Given the description of an element on the screen output the (x, y) to click on. 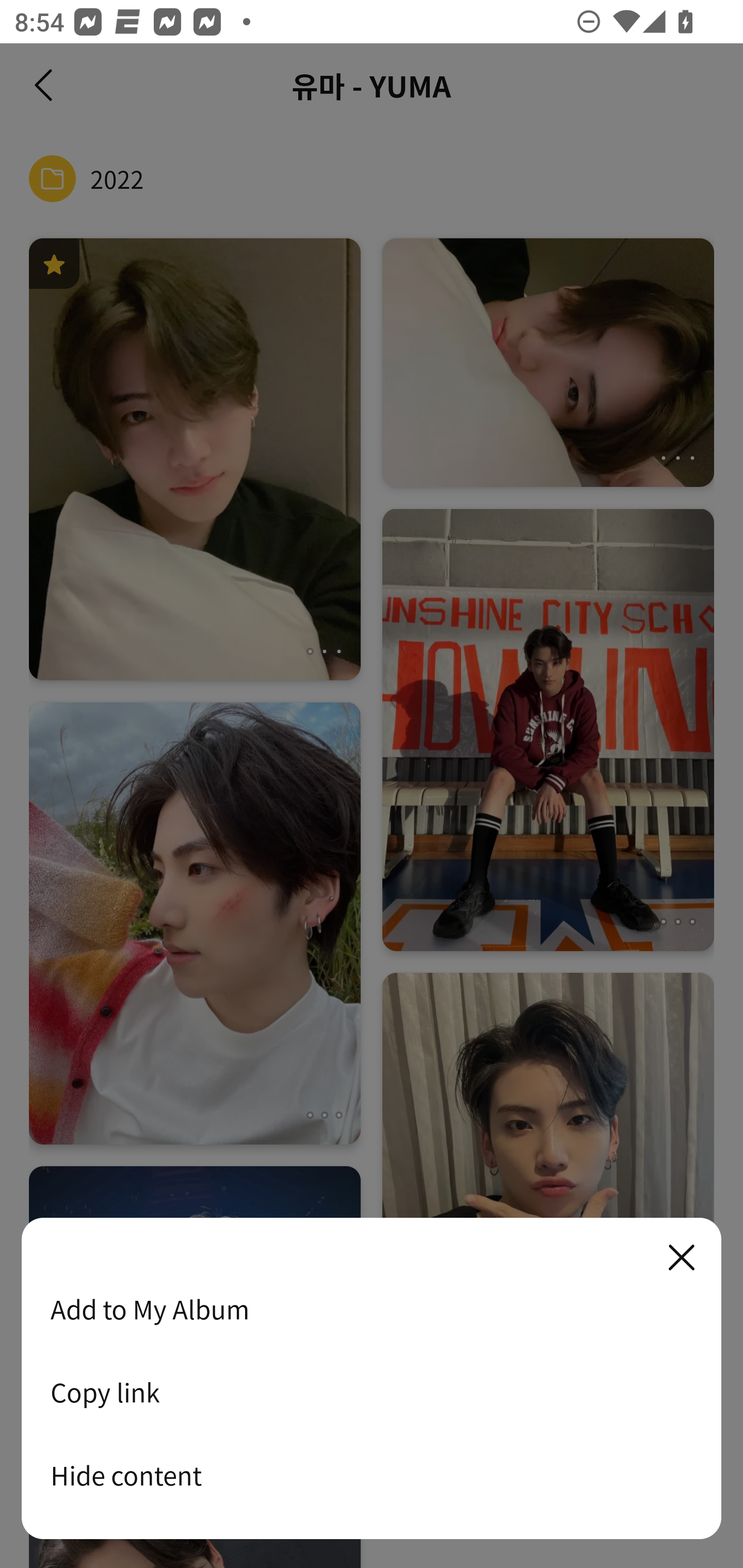
Add to My Album Copy link Hide content (371, 1378)
Add to My Album (371, 1308)
Copy link (371, 1391)
Hide content (371, 1474)
